Given the description of an element on the screen output the (x, y) to click on. 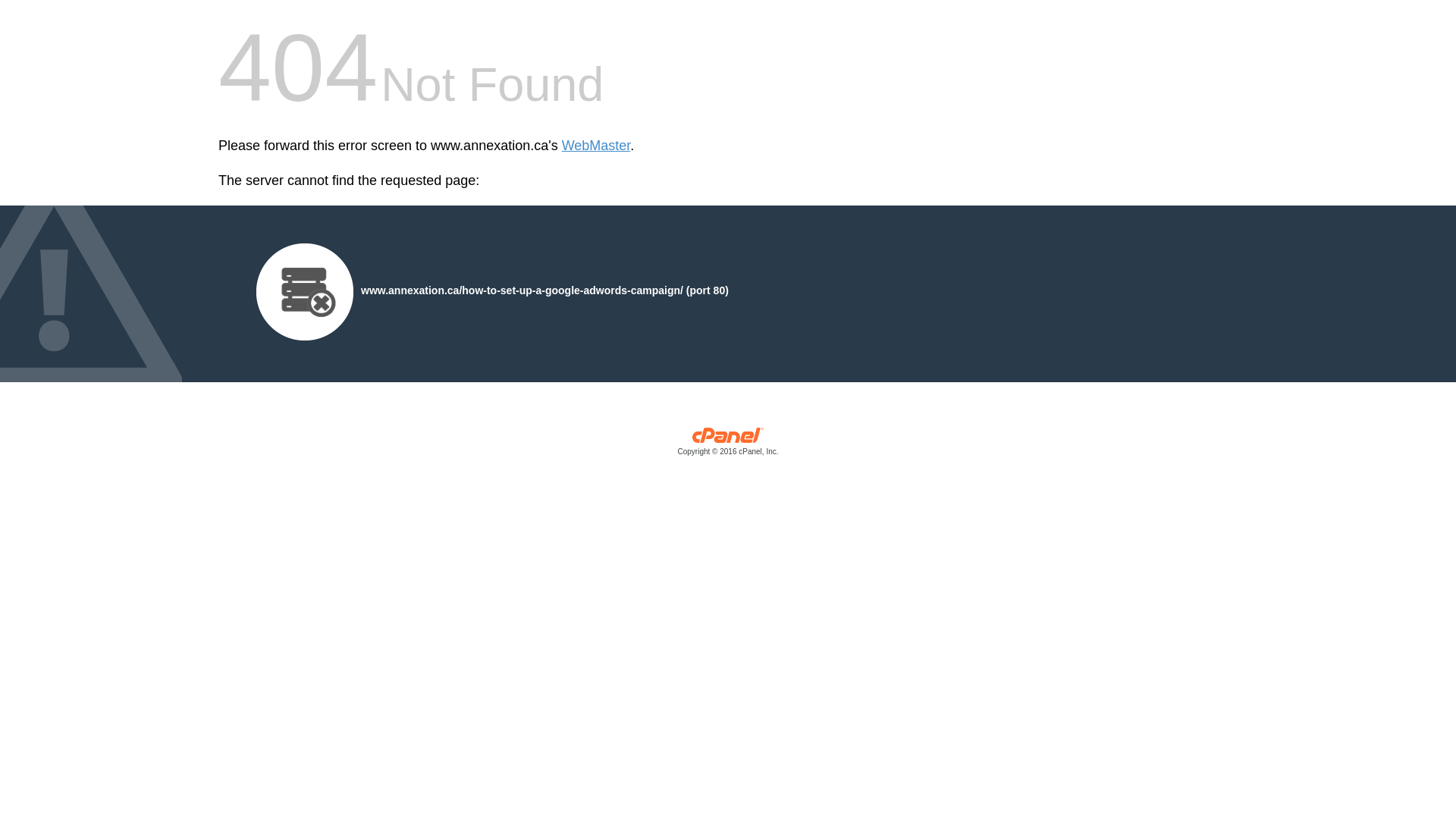
WebMaster Element type: text (595, 145)
